Given the description of an element on the screen output the (x, y) to click on. 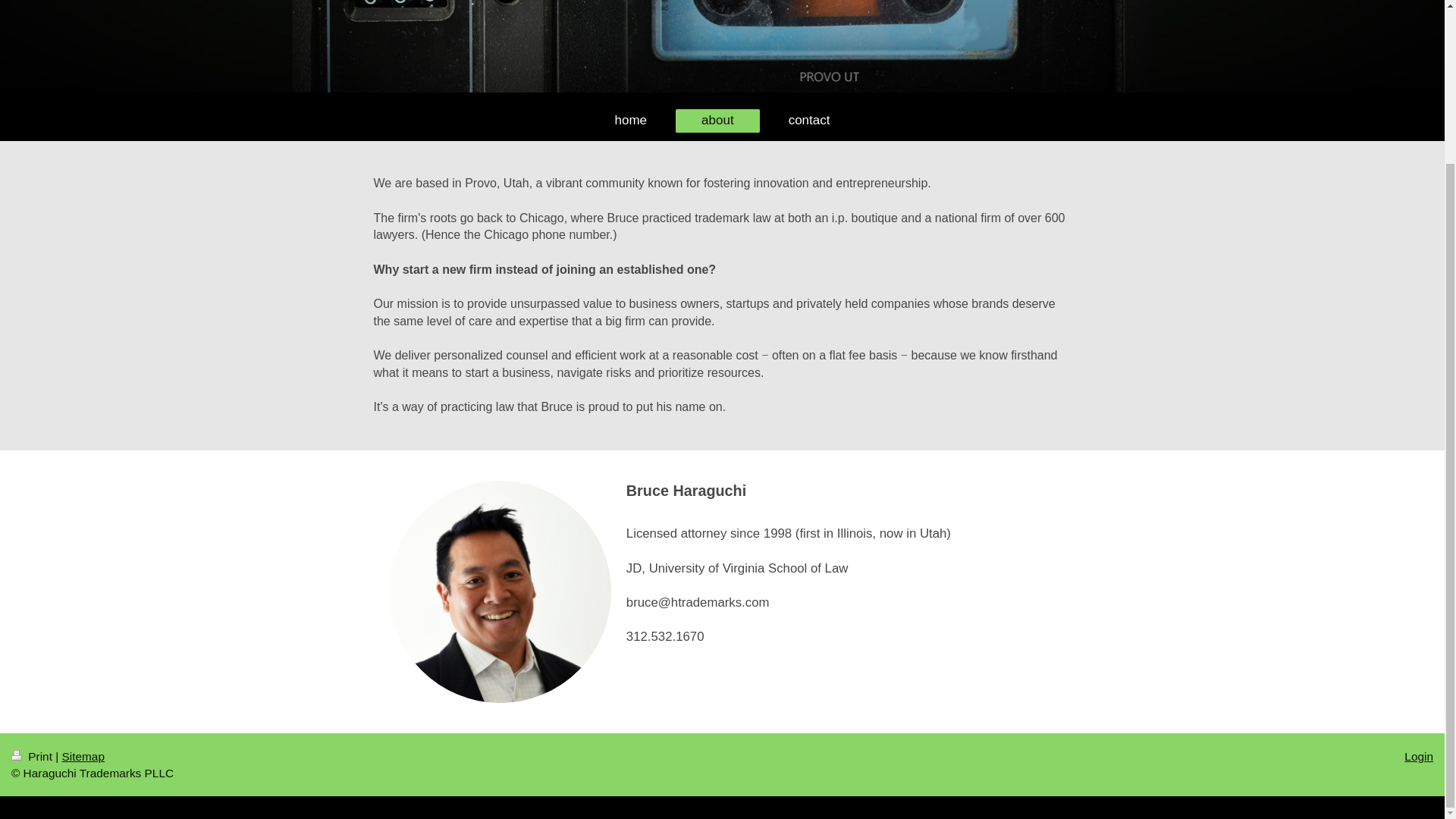
Login (1418, 756)
Print (33, 756)
home (630, 119)
contact (809, 119)
Sitemap (82, 756)
about (717, 120)
